Given the description of an element on the screen output the (x, y) to click on. 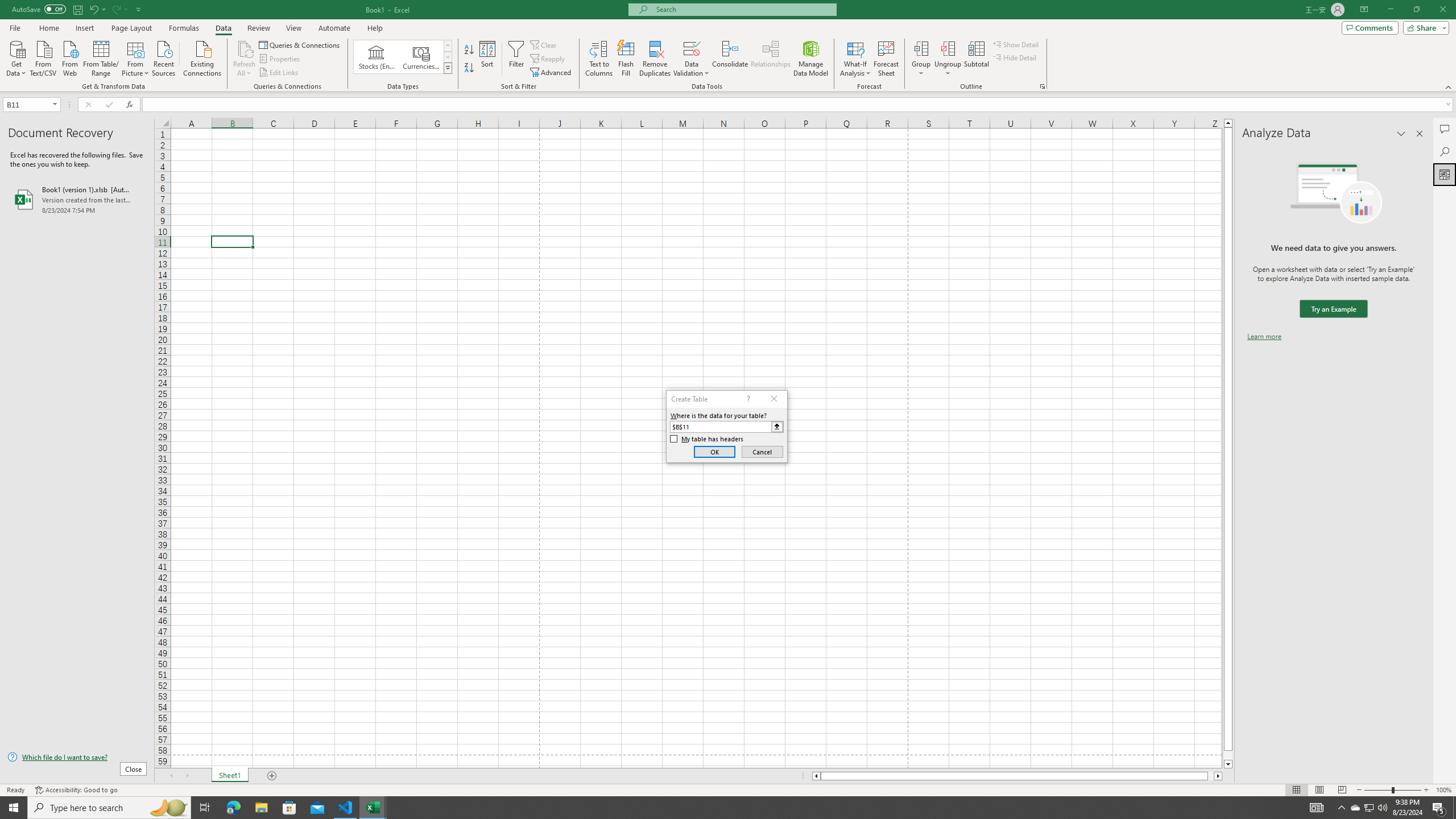
Queries & Connections (300, 44)
From Web (69, 57)
